Given the description of an element on the screen output the (x, y) to click on. 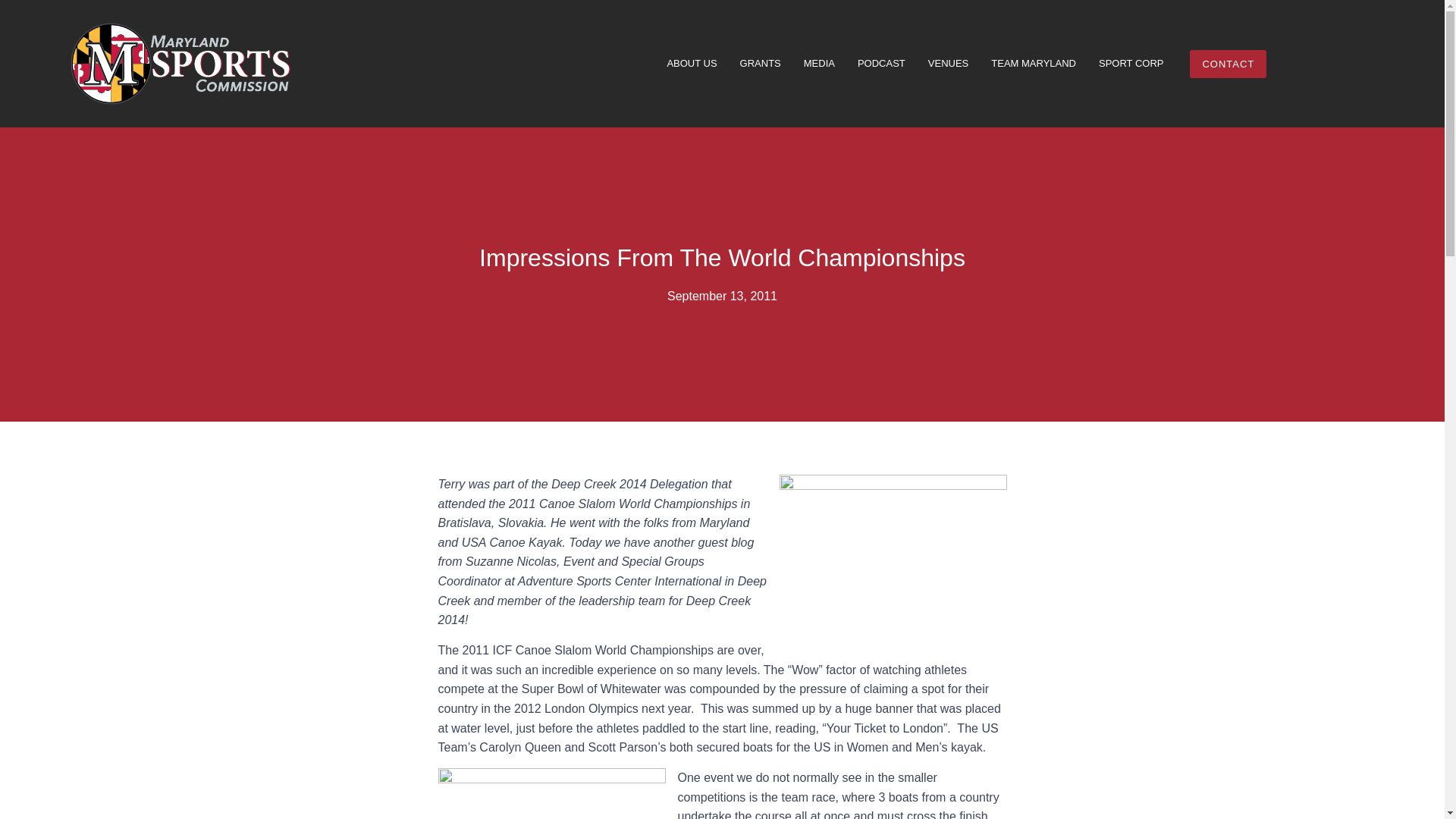
Fans (551, 793)
ABOUT US (691, 63)
TEAM MARYLAND (1033, 63)
VENUES (948, 63)
PODCAST (881, 63)
GRANTS (760, 63)
CONTACT (1227, 63)
Kayaker (892, 560)
September 13, 2011 (721, 296)
SPORT CORP (1130, 63)
